Given the description of an element on the screen output the (x, y) to click on. 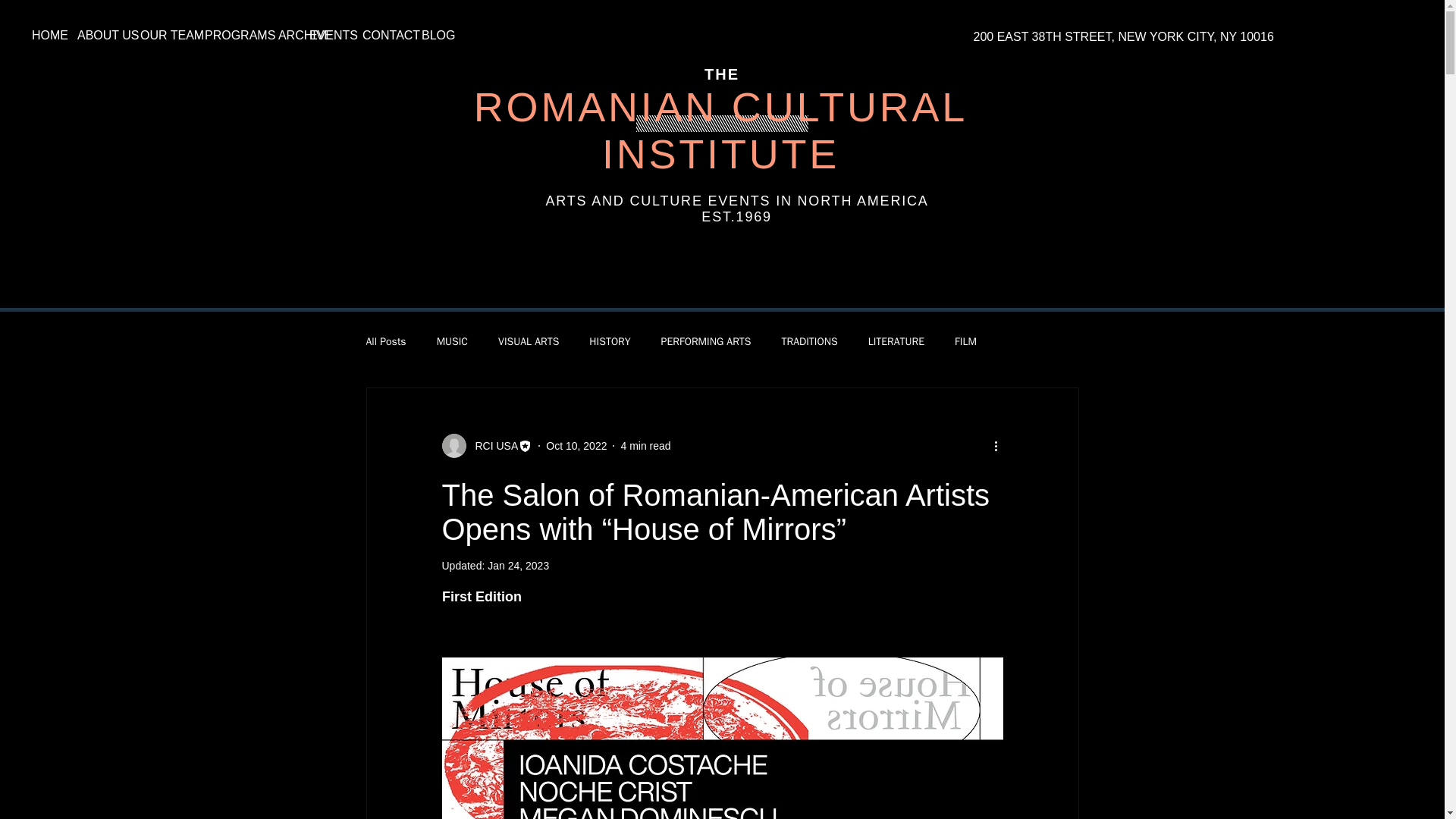
ROMANIAN CULTURAL INSTITUTE (721, 130)
BLOG (431, 35)
MUSIC (451, 341)
TRADITIONS (808, 341)
PERFORMING ARTS (706, 341)
RCI USA (491, 446)
PROGRAMS ARCHIVE (245, 35)
ABOUT US (97, 35)
LITERATURE (895, 341)
